Given the description of an element on the screen output the (x, y) to click on. 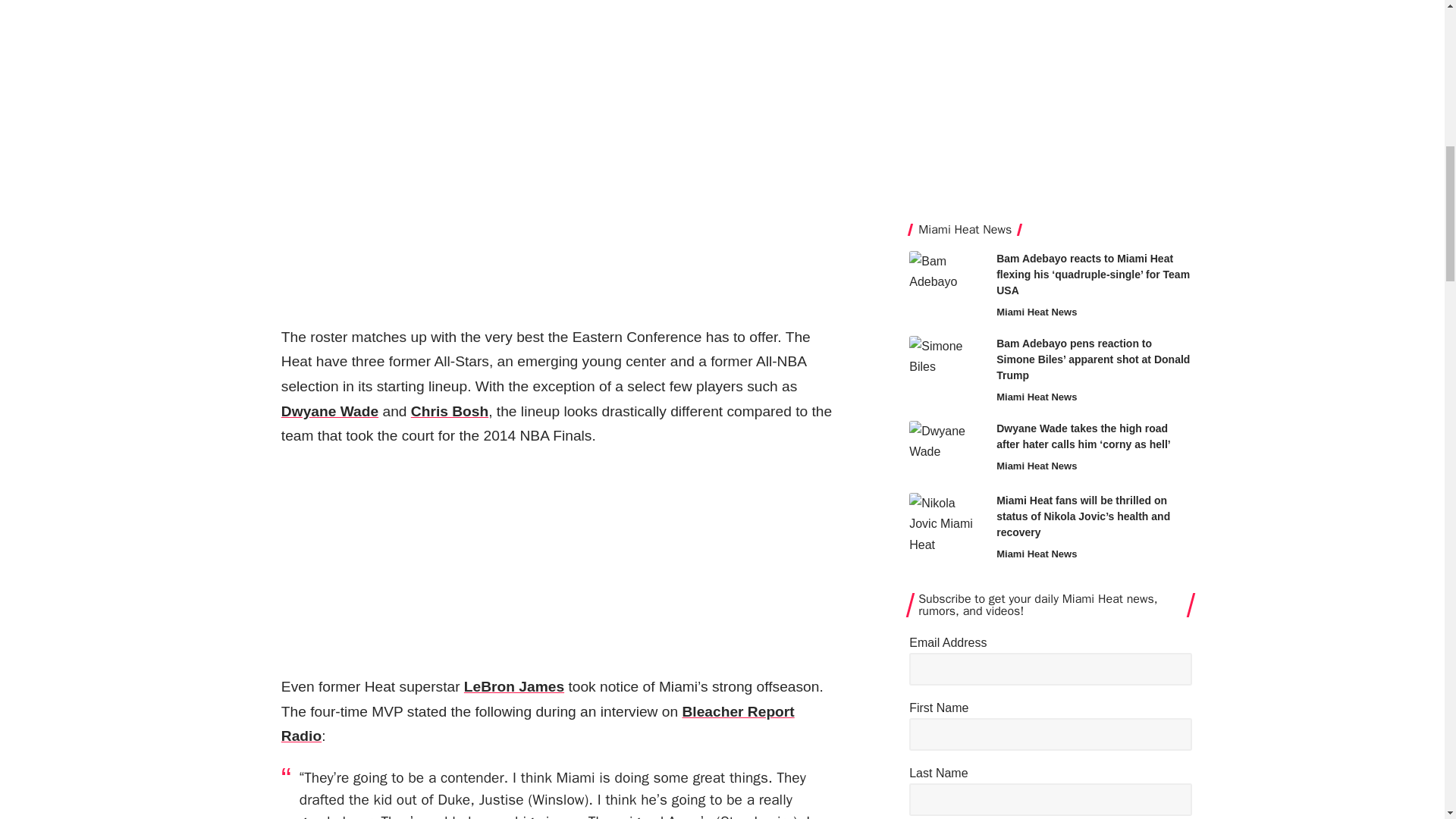
Chris Bosh (448, 411)
Dwyane Wade (329, 411)
Bleacher Report Radio (537, 723)
LeBron James (514, 686)
